Given the description of an element on the screen output the (x, y) to click on. 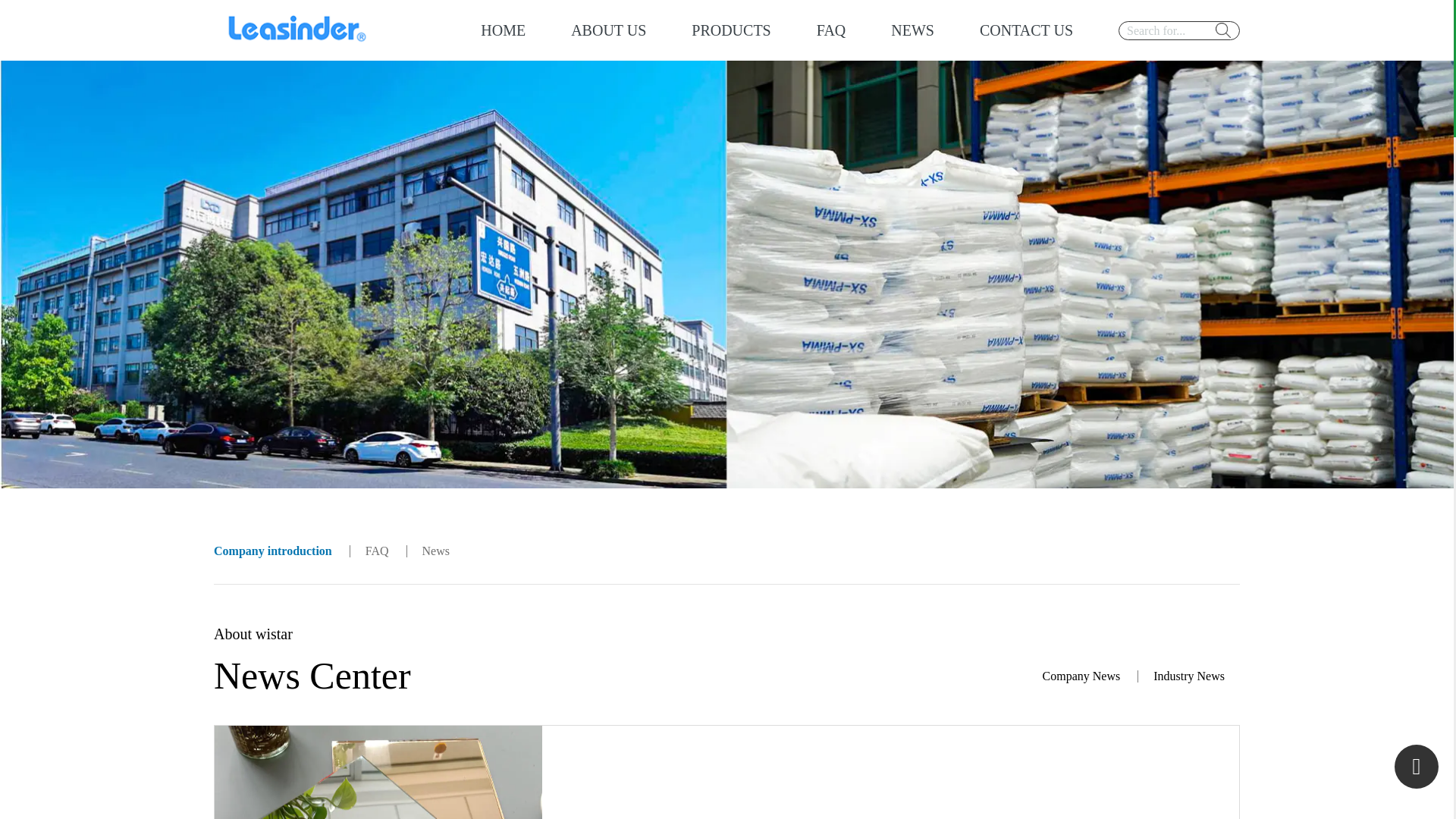
ABOUT US (608, 30)
PRODUCTS (730, 30)
CONTACT US (1026, 30)
